Given the description of an element on the screen output the (x, y) to click on. 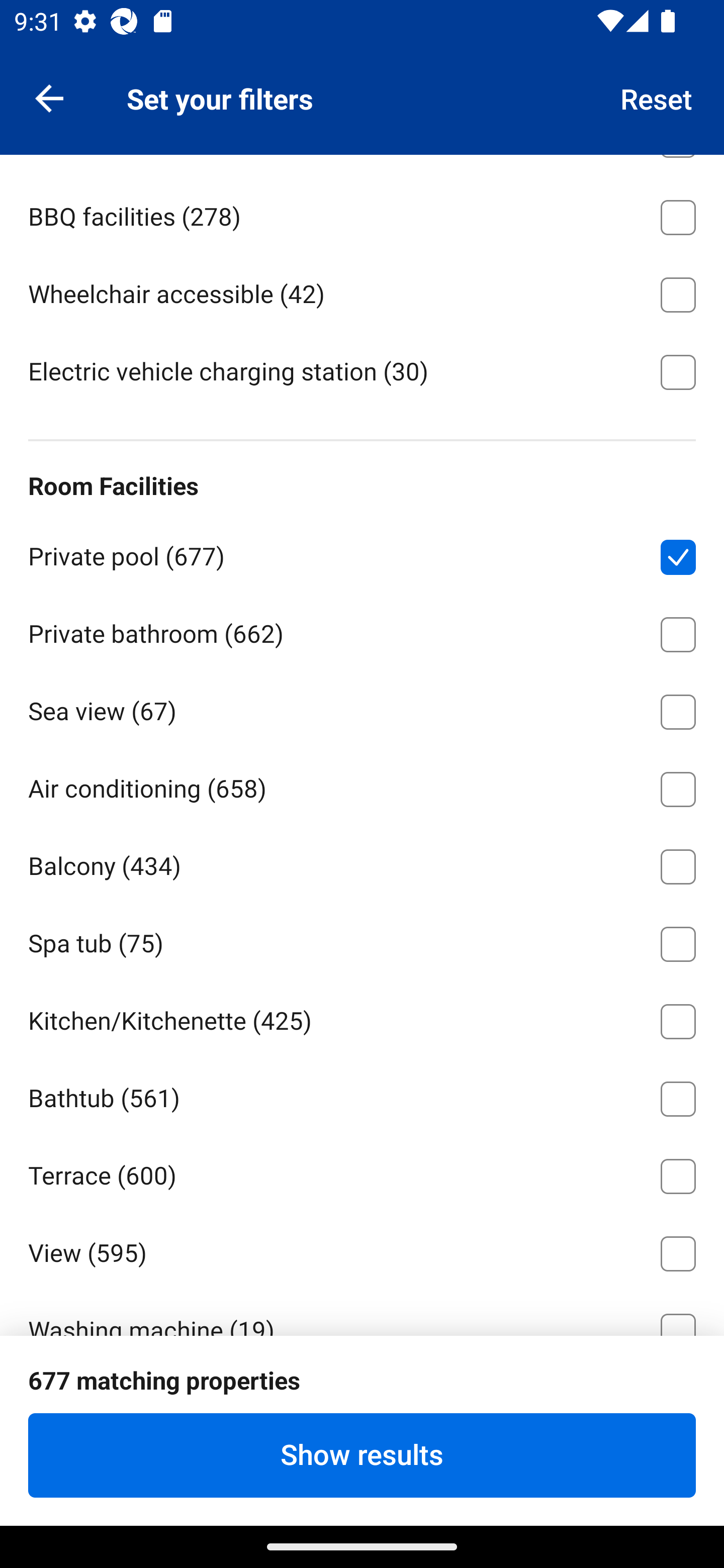
Navigate up (49, 97)
Reset (656, 97)
BBQ facilities ⁦(278) (361, 213)
Wheelchair accessible ⁦(42) (361, 291)
Electric vehicle charging station ⁦(30) (361, 370)
Private pool ⁦(677) (361, 553)
Private bathroom ⁦(662) (361, 630)
Sea view ⁦(67) (361, 708)
Air conditioning ⁦(658) (361, 785)
Balcony ⁦(434) (361, 862)
Spa tub ⁦(75) (361, 940)
Kitchen/Kitchenette ⁦(425) (361, 1018)
Bathtub ⁦(561) (361, 1094)
Terrace ⁦(600) (361, 1172)
View ⁦(595) (361, 1250)
Washing machine ⁦(19) (361, 1311)
Show results (361, 1454)
